Given the description of an element on the screen output the (x, y) to click on. 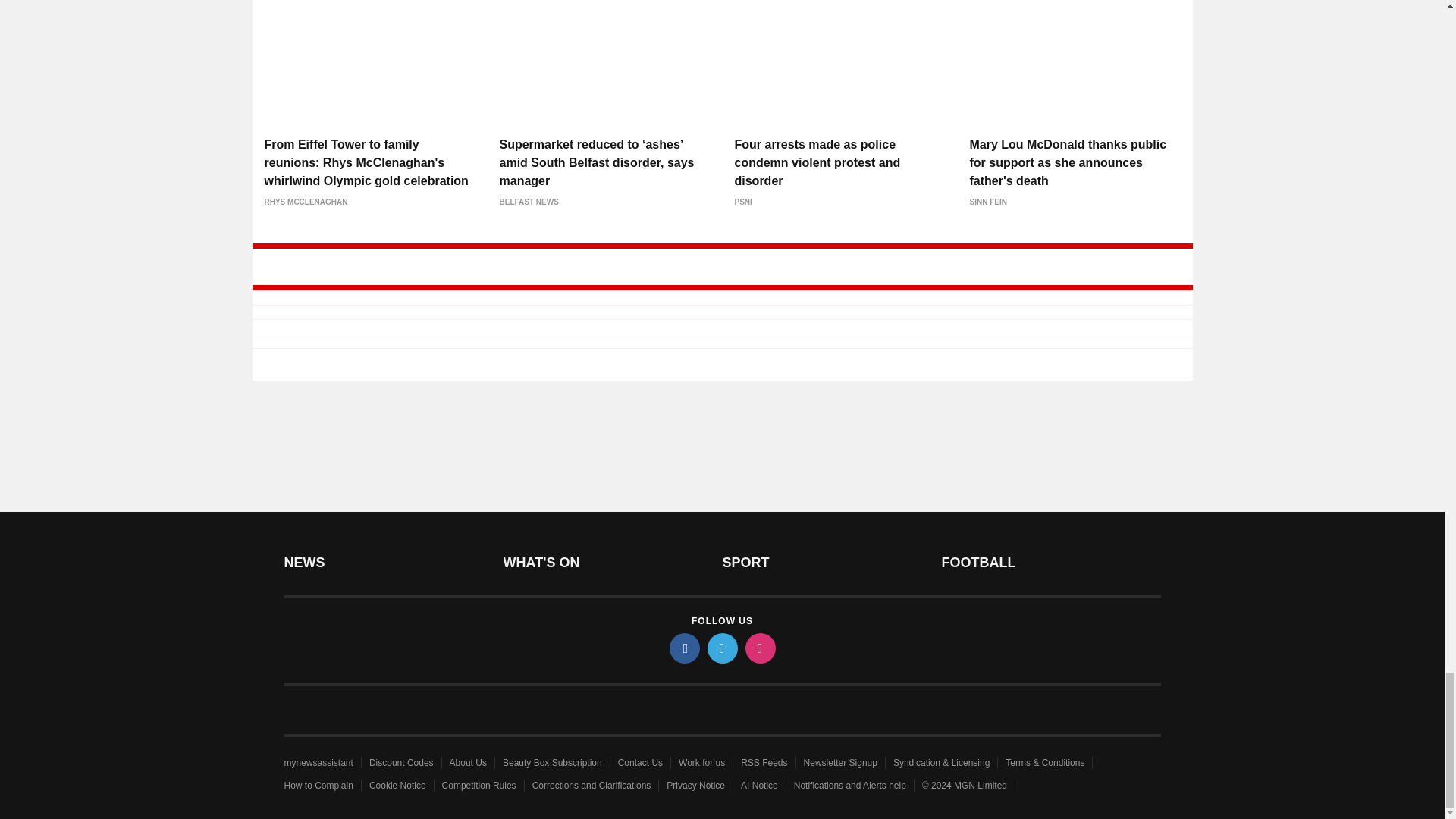
twitter (721, 648)
instagram (759, 648)
facebook (683, 648)
